Given the description of an element on the screen output the (x, y) to click on. 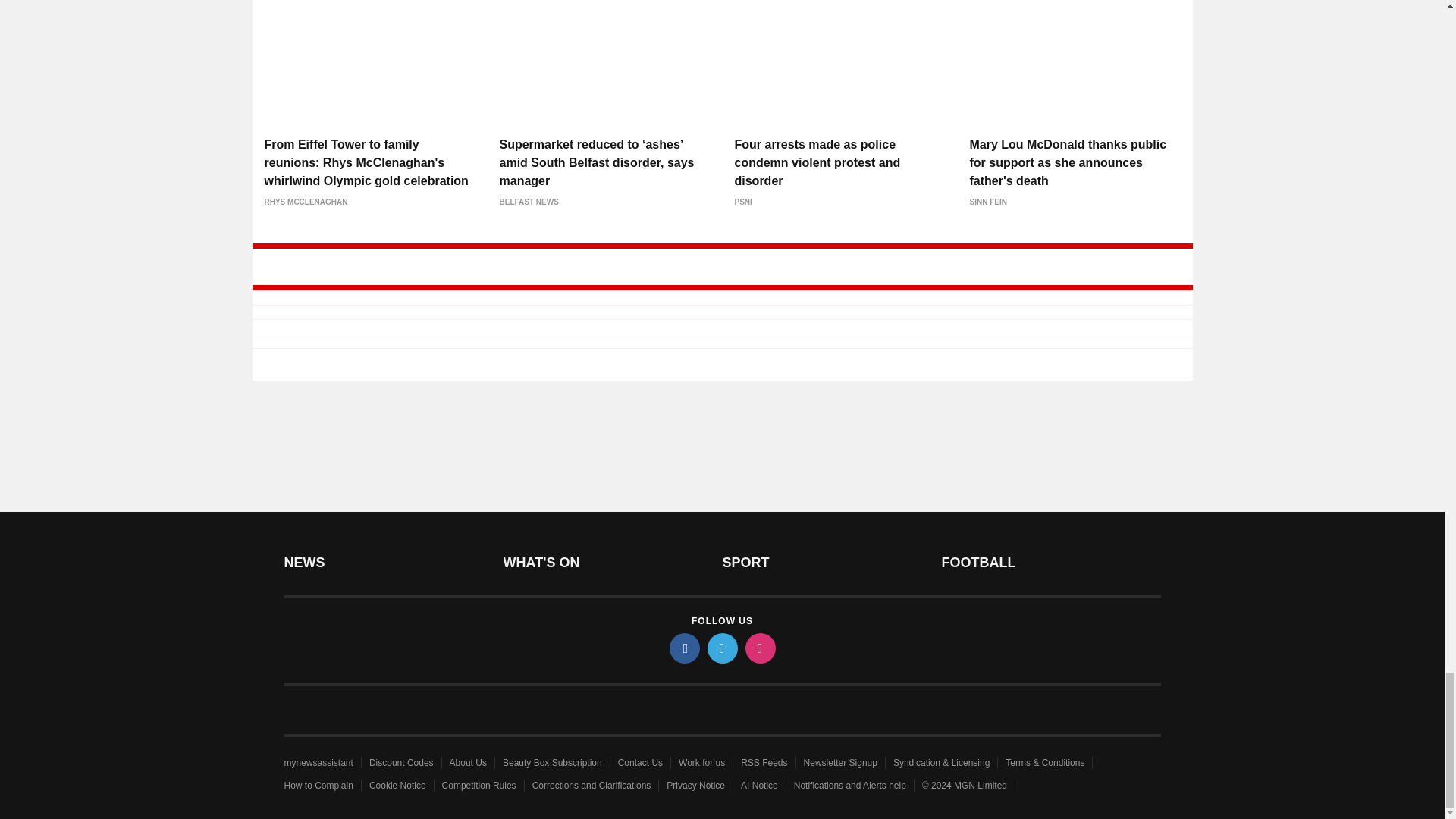
twitter (721, 648)
instagram (759, 648)
facebook (683, 648)
